Given the description of an element on the screen output the (x, y) to click on. 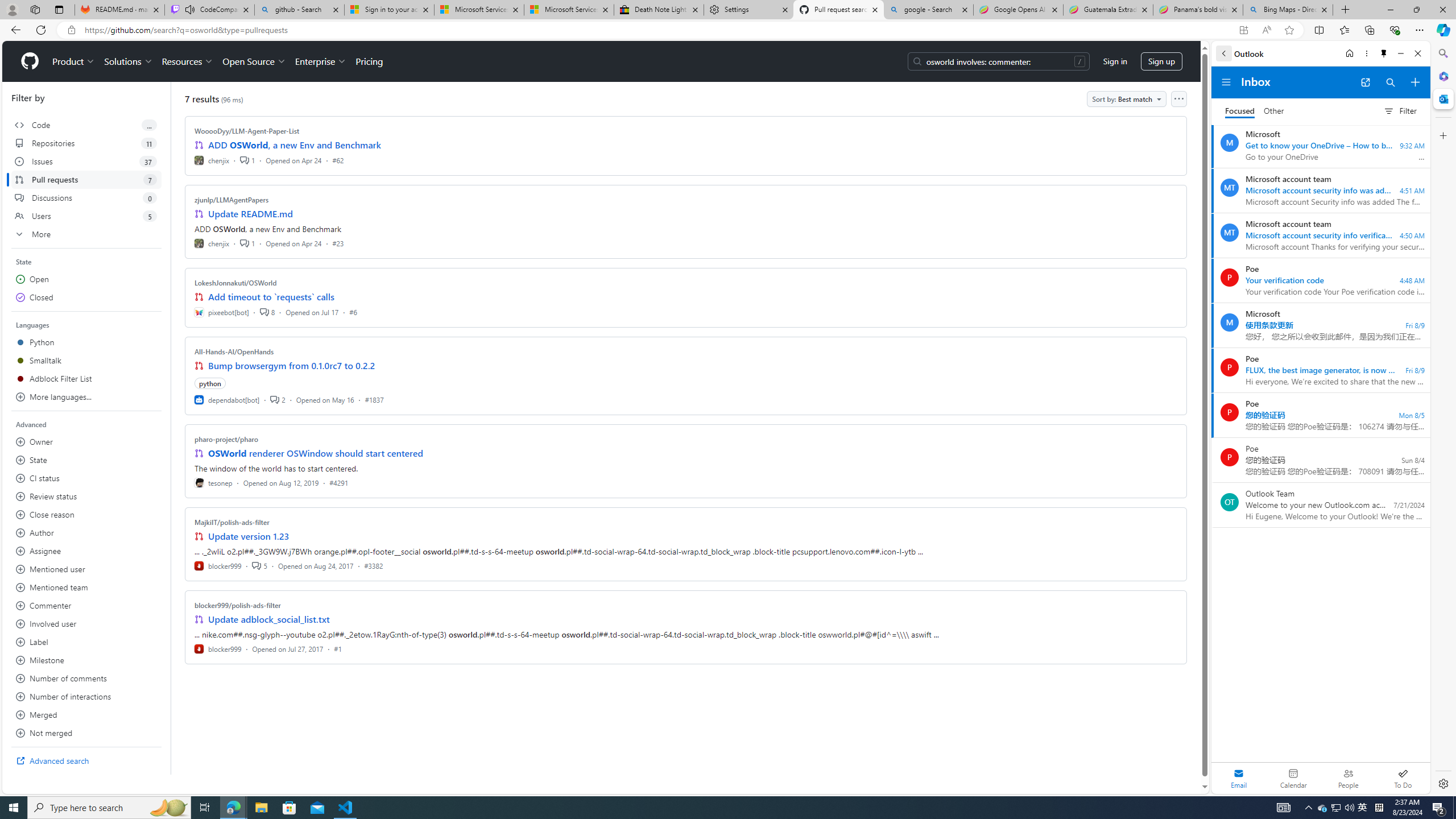
Focused Inbox, toggle to go to Other Inbox (1254, 110)
#1 (337, 648)
More languages... (86, 397)
MajkiIT/polish-ads-filter (232, 521)
WooooDyy/LLM-Agent-Paper-List (247, 130)
Open column options (1178, 98)
Product (74, 60)
